Given the description of an element on the screen output the (x, y) to click on. 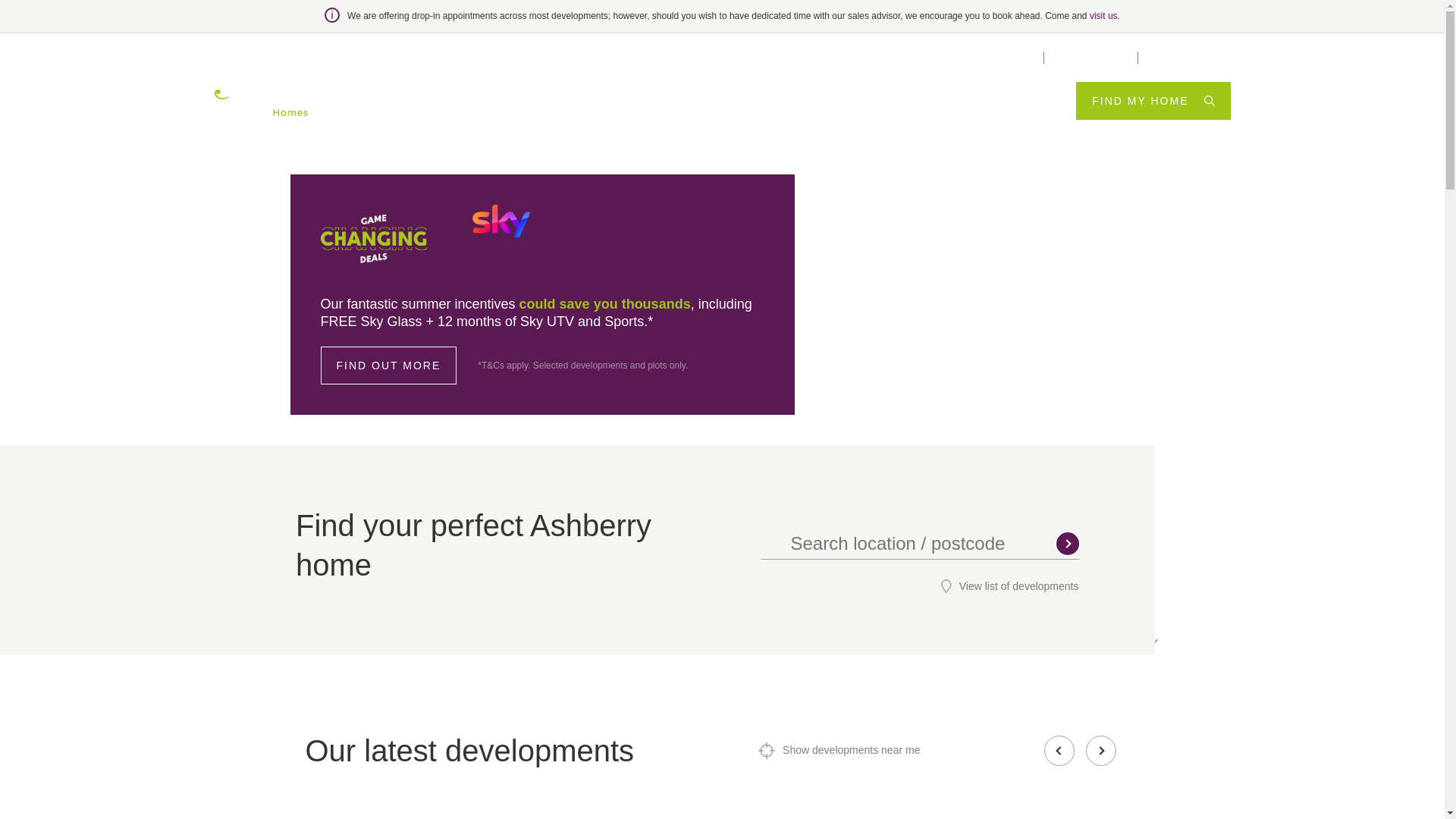
visit us (1103, 15)
Contact (1160, 57)
About Ashberry (1003, 100)
FIND MY HOME (1152, 100)
Buying with Ashberry (874, 100)
Your Ashberry login (1091, 57)
Customer Support (997, 57)
